Given the description of an element on the screen output the (x, y) to click on. 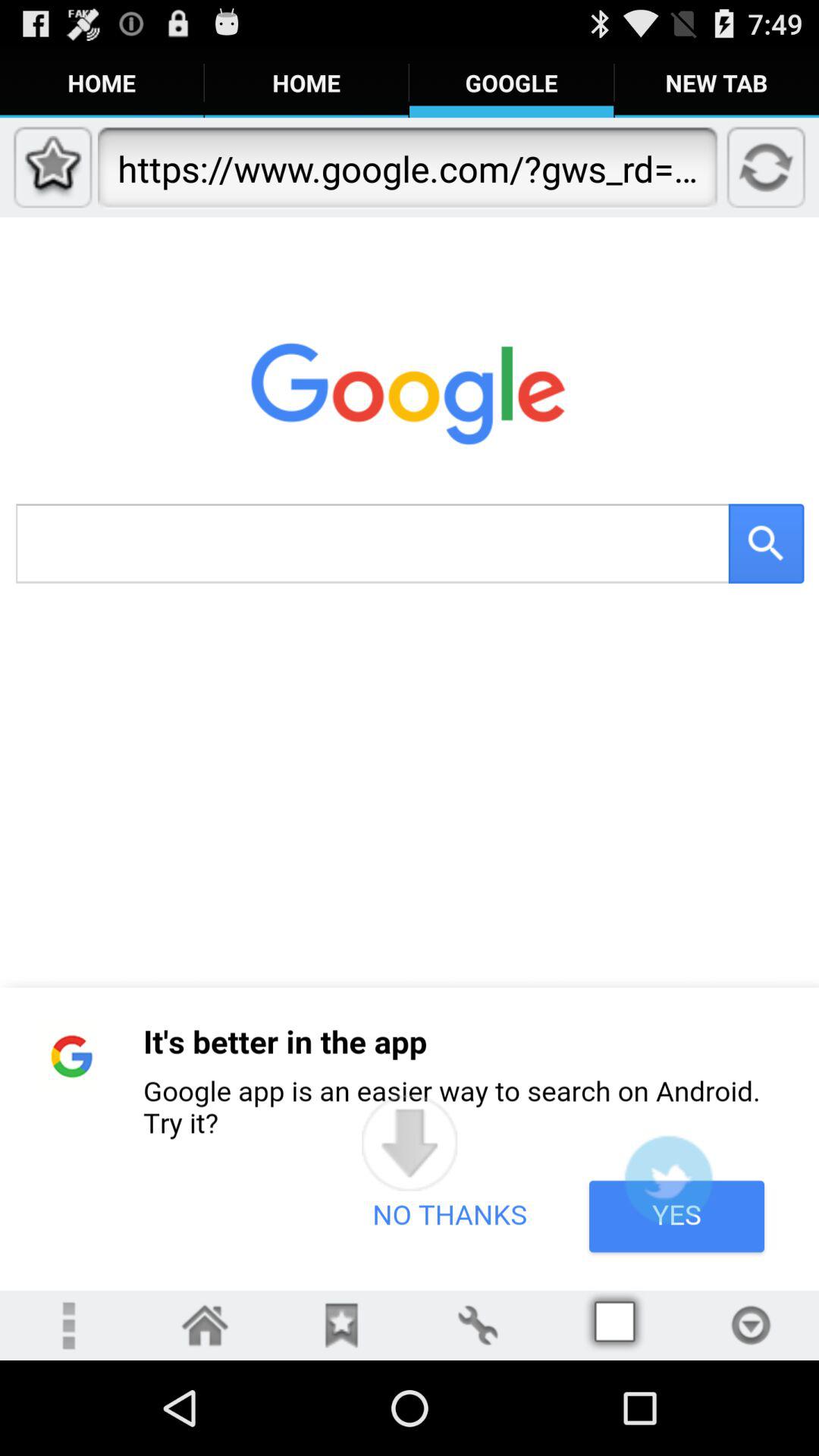
menu page (204, 1325)
